Given the description of an element on the screen output the (x, y) to click on. 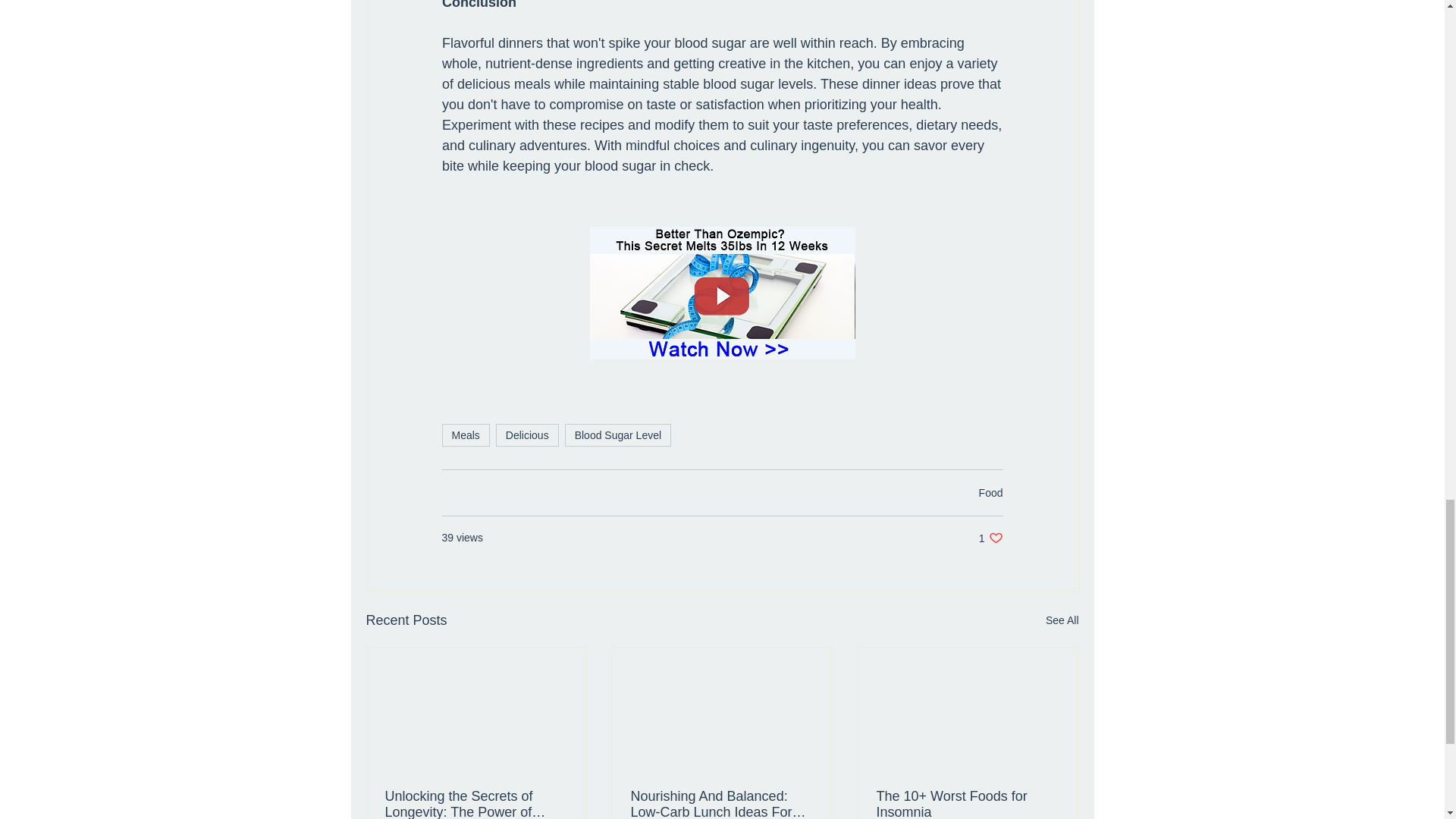
Delicious (527, 435)
See All (1061, 620)
Meals (990, 537)
Food (465, 435)
Blood Sugar Level (990, 492)
